Given the description of an element on the screen output the (x, y) to click on. 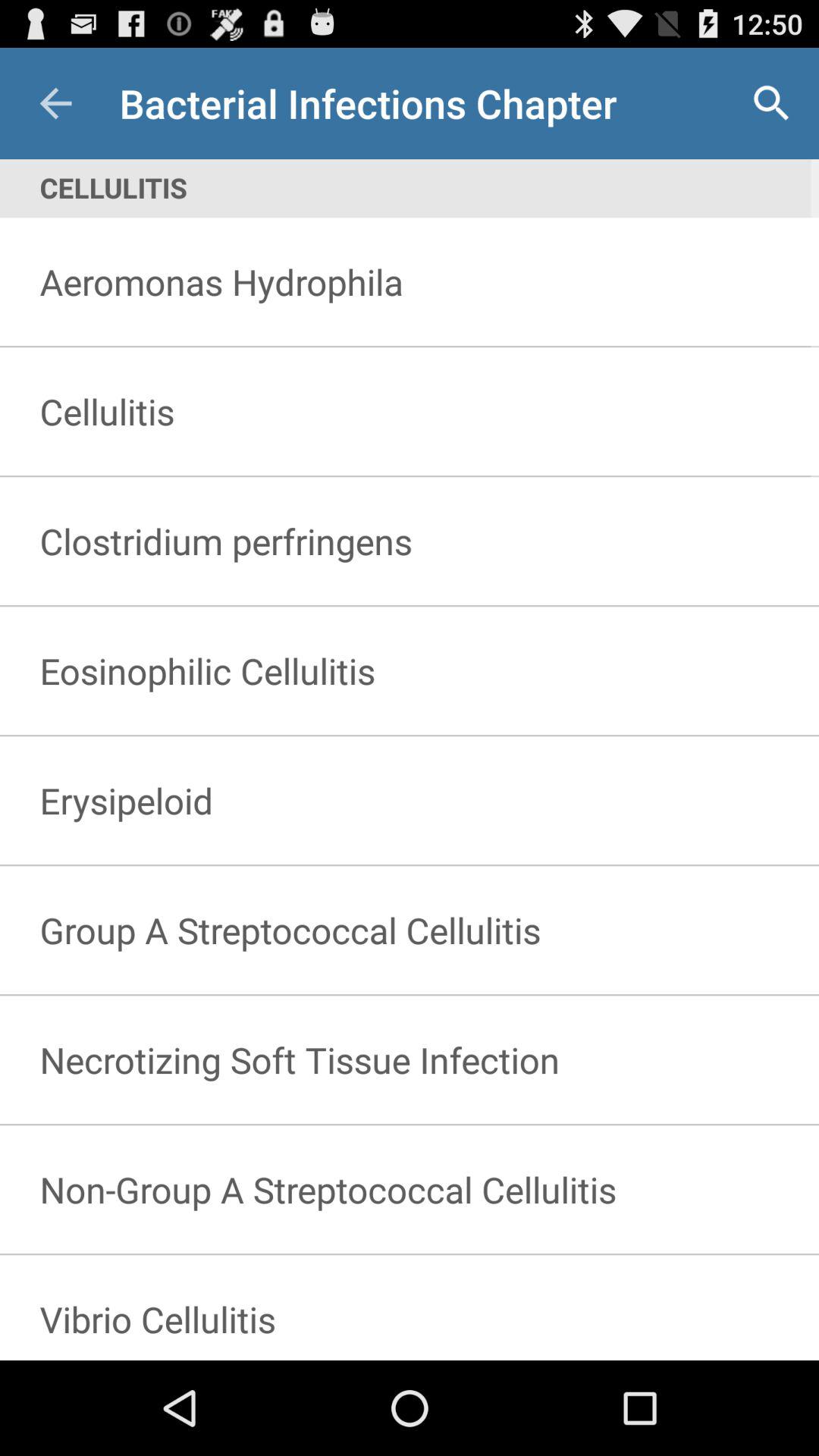
select item to the left of the bacterial infections chapter icon (55, 103)
